Given the description of an element on the screen output the (x, y) to click on. 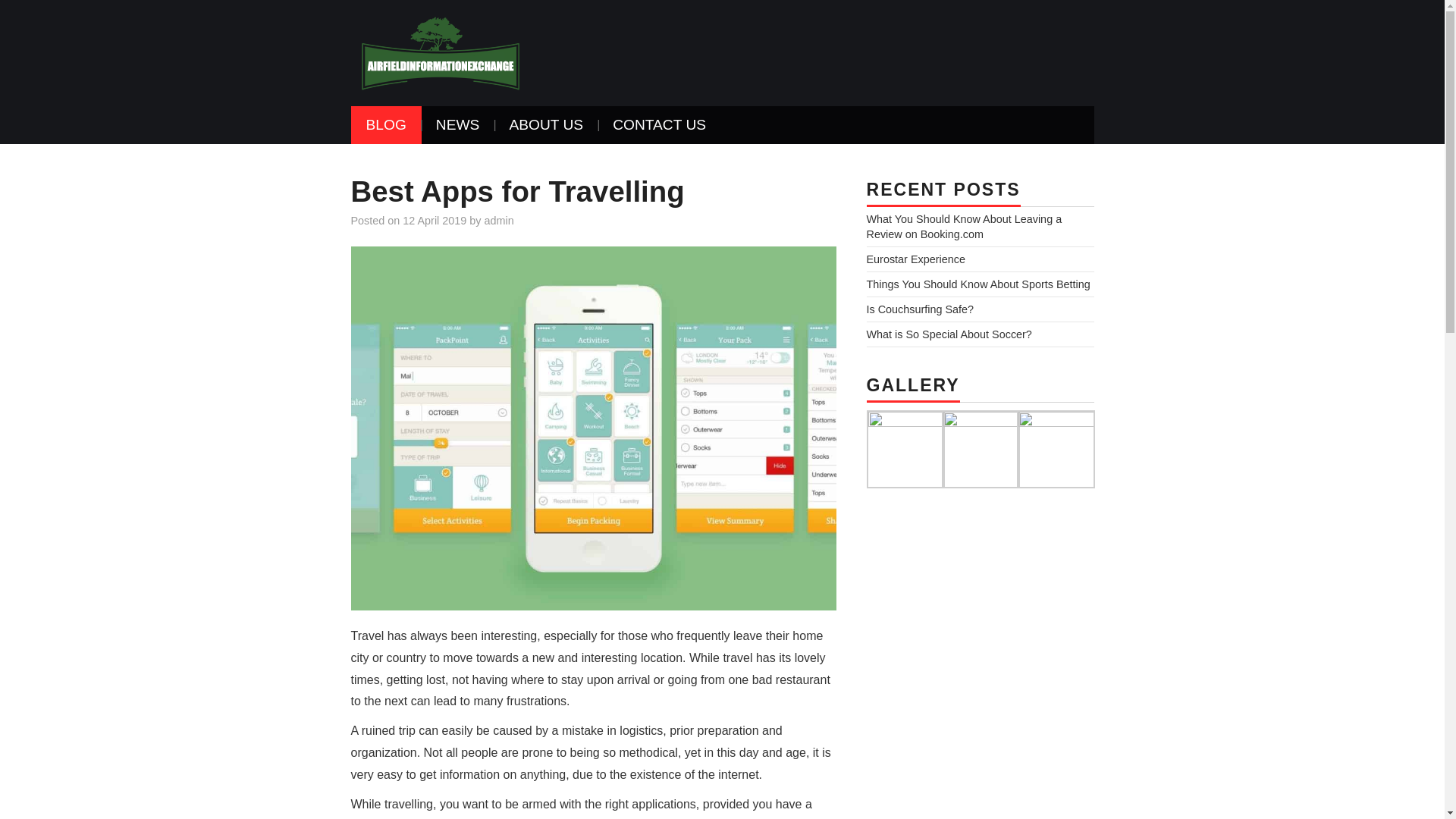
ABOUT US (545, 125)
NEWS (457, 125)
What is So Special About Soccer? (948, 334)
BLOG (385, 125)
What You Should Know About Leaving a Review on Booking.com (963, 226)
admin (498, 220)
View all posts by admin (498, 220)
CONTACT US (658, 125)
Eurostar Experience (914, 259)
airfieldinformationexchange.org (439, 51)
